Given the description of an element on the screen output the (x, y) to click on. 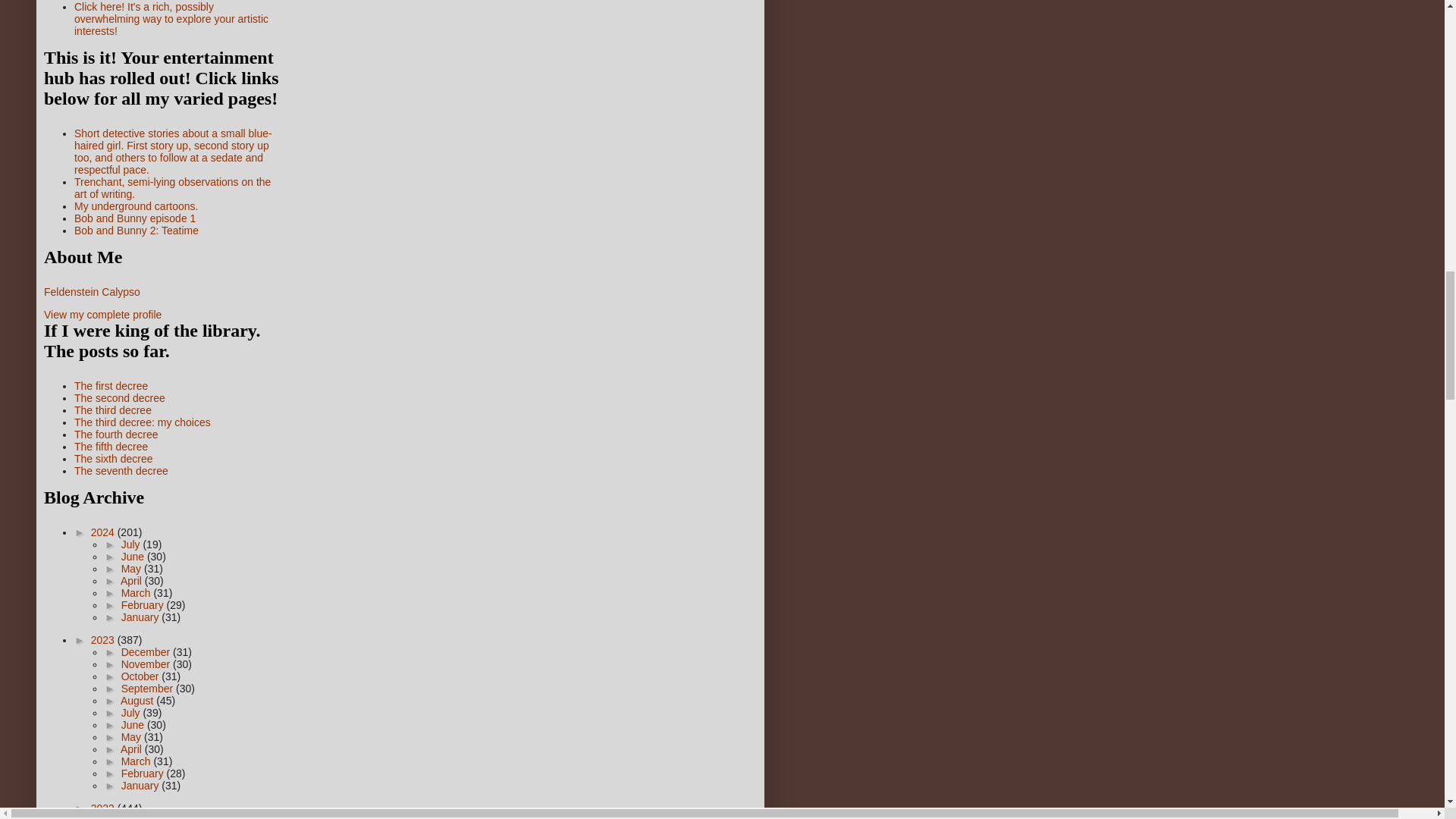
View my complete profile (102, 314)
The seventh decree (121, 470)
The first decree (111, 386)
The fourth decree (116, 434)
Feldenstein Calypso (91, 291)
July (131, 544)
2024 (103, 532)
Trenchant, semi-lying observations on the art of writing. (172, 187)
June (133, 556)
Bob and Bunny 2: Teatime (136, 230)
The sixth decree (113, 458)
The fifth decree (111, 446)
The third decree: my choices (142, 422)
